Given the description of an element on the screen output the (x, y) to click on. 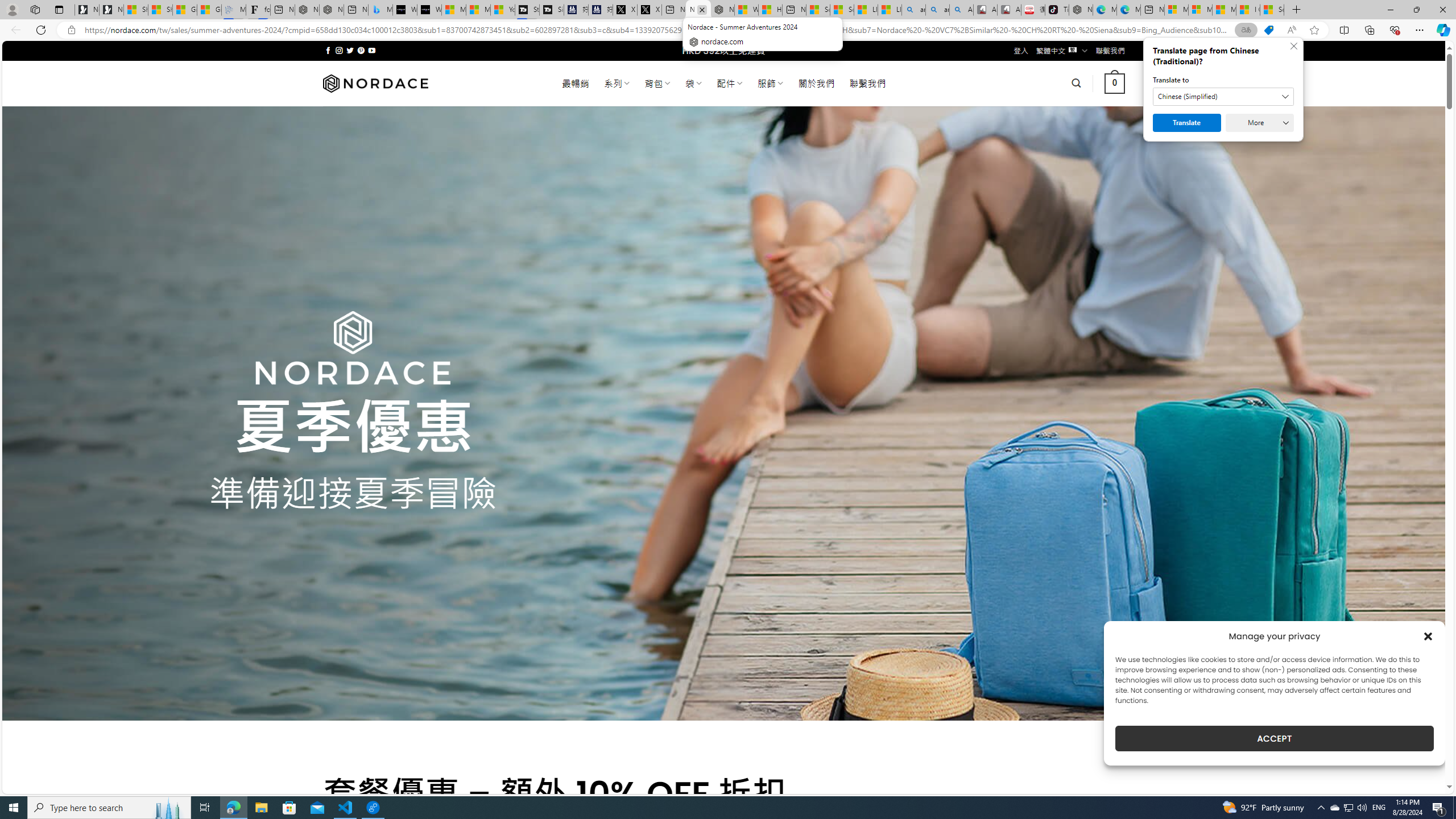
Follow on Facebook (327, 50)
Class: cmplz-close (1428, 636)
Gilma and Hector both pose tropical trouble for Hawaii (208, 9)
